Given the description of an element on the screen output the (x, y) to click on. 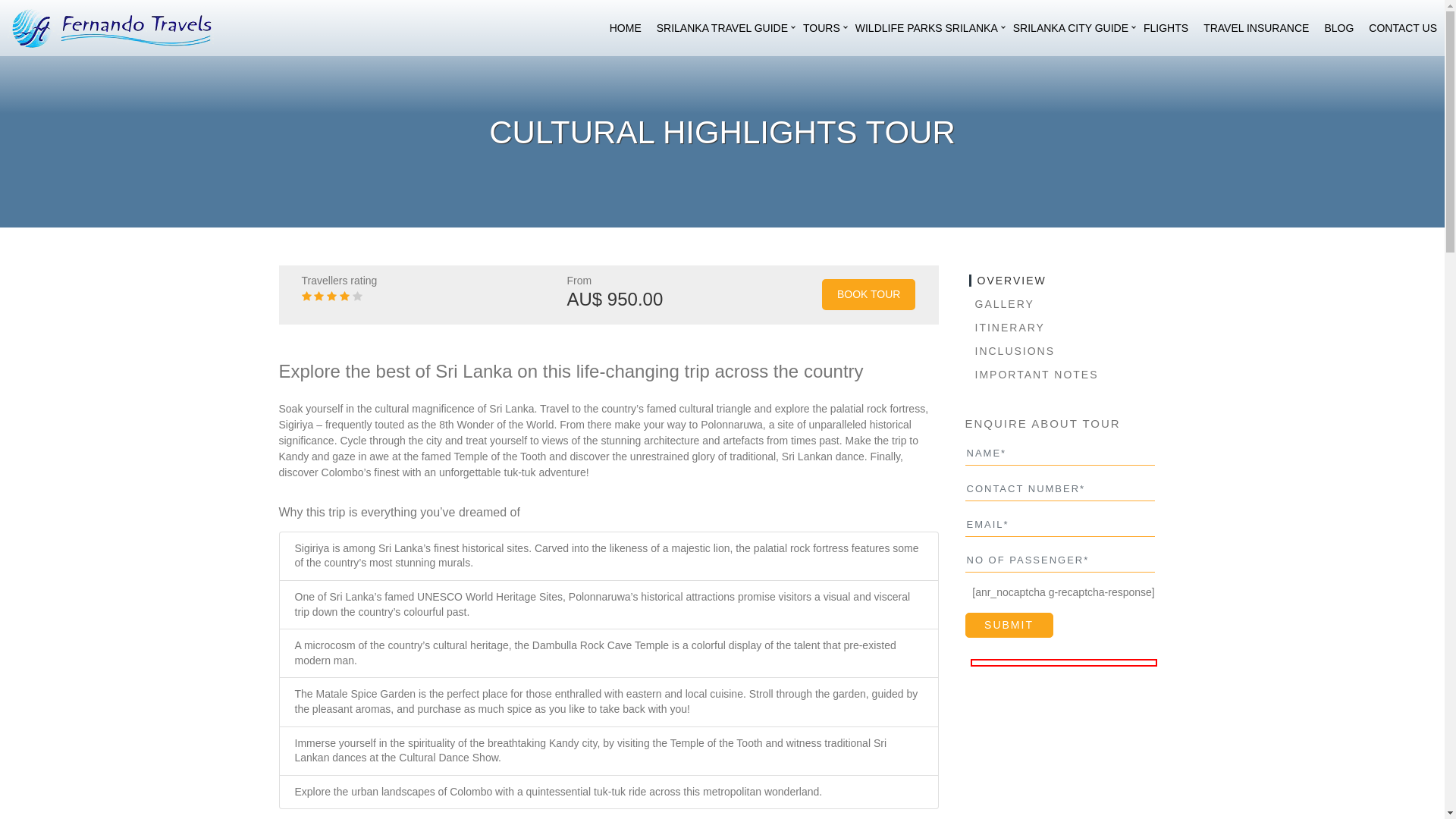
IMPORTANT NOTES Element type: text (1033, 374)
WILDLIFE PARKS SRILANKA Element type: text (926, 28)
Fernando Travels Element type: hover (111, 27)
TRAVEL INSURANCE Element type: text (1255, 28)
OVERVIEW Element type: text (1007, 280)
FLIGHTS Element type: text (1165, 28)
SRILANKA TRAVEL GUIDE Element type: text (722, 28)
BLOG Element type: text (1338, 28)
submit Element type: text (1008, 624)
CONTACT US Element type: text (1402, 28)
ITINERARY Element type: text (1006, 327)
TOURS Element type: text (821, 28)
BOOK TOUR Element type: text (869, 294)
INCLUSIONS Element type: text (1012, 351)
GALLERY Element type: text (1001, 304)
SRILANKA CITY GUIDE Element type: text (1070, 28)
HOME Element type: text (625, 28)
